Given the description of an element on the screen output the (x, y) to click on. 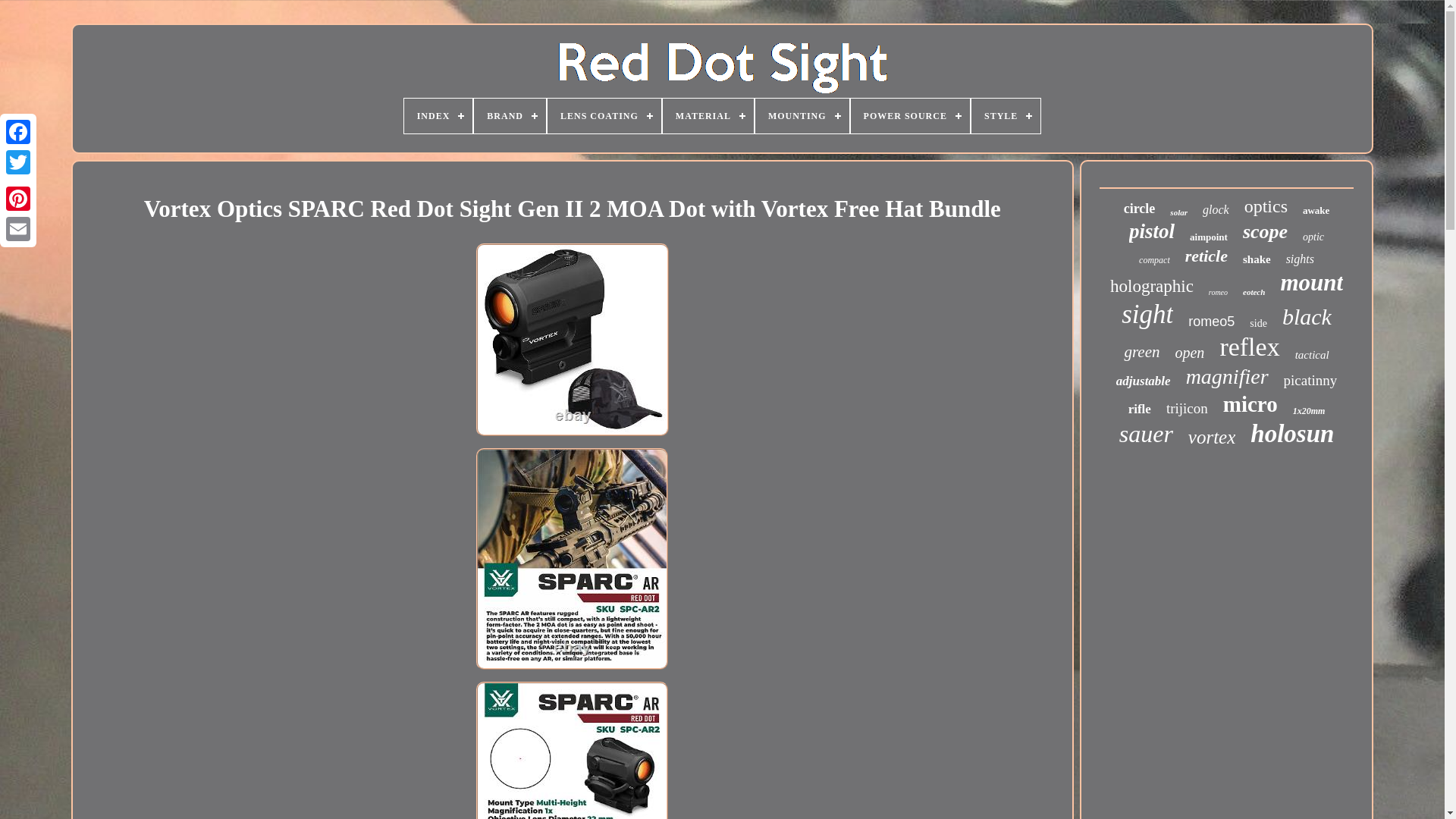
LENS COATING (604, 115)
INDEX (438, 115)
BRAND (510, 115)
